Given the description of an element on the screen output the (x, y) to click on. 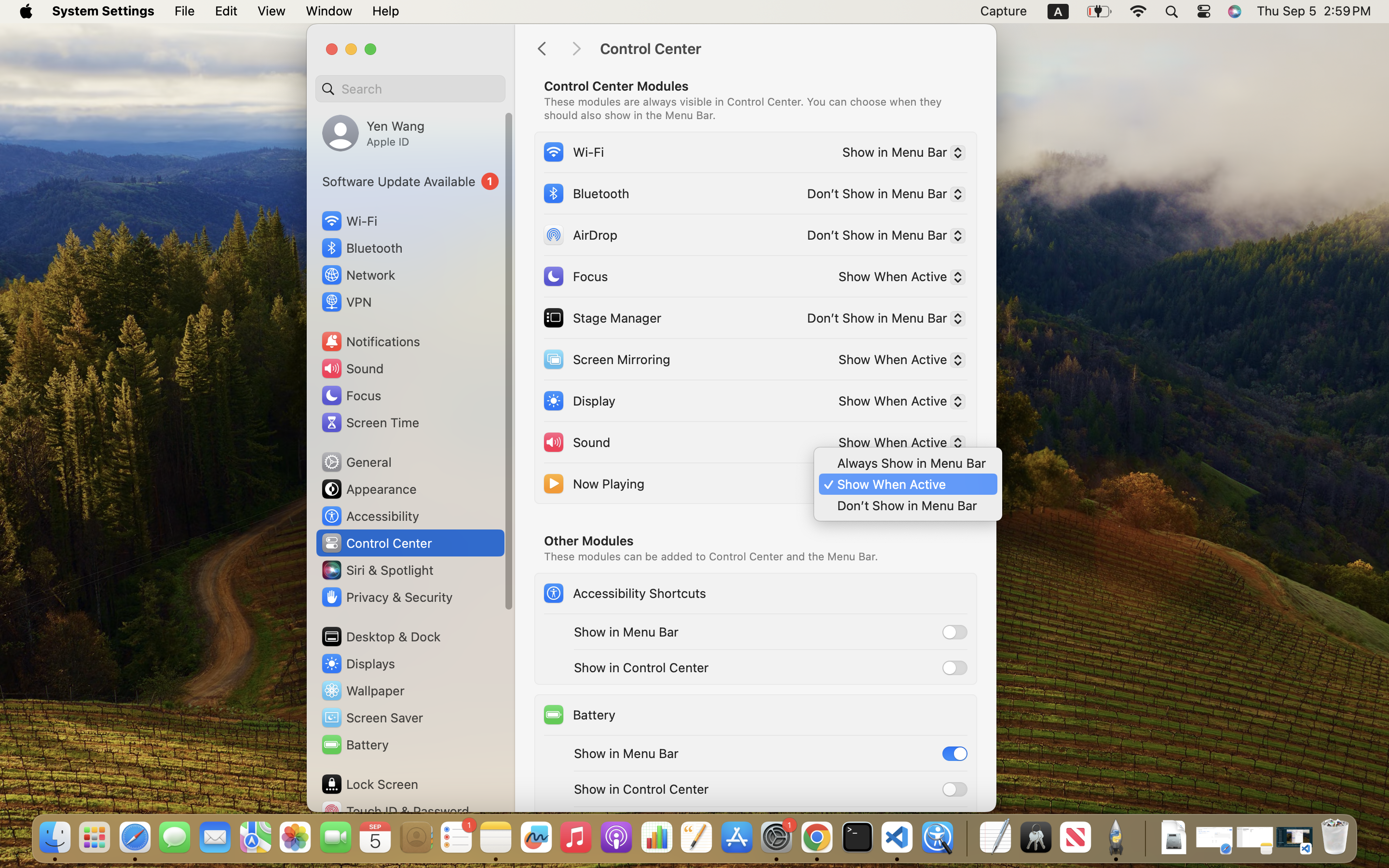
Sound Element type: AXStaticText (576, 441)
General Element type: AXStaticText (355, 461)
Show in Control Center Element type: AXStaticText (640, 667)
0.4285714328289032 Element type: AXDockItem (965, 837)
VPN Element type: AXStaticText (345, 301)
